Given the description of an element on the screen output the (x, y) to click on. 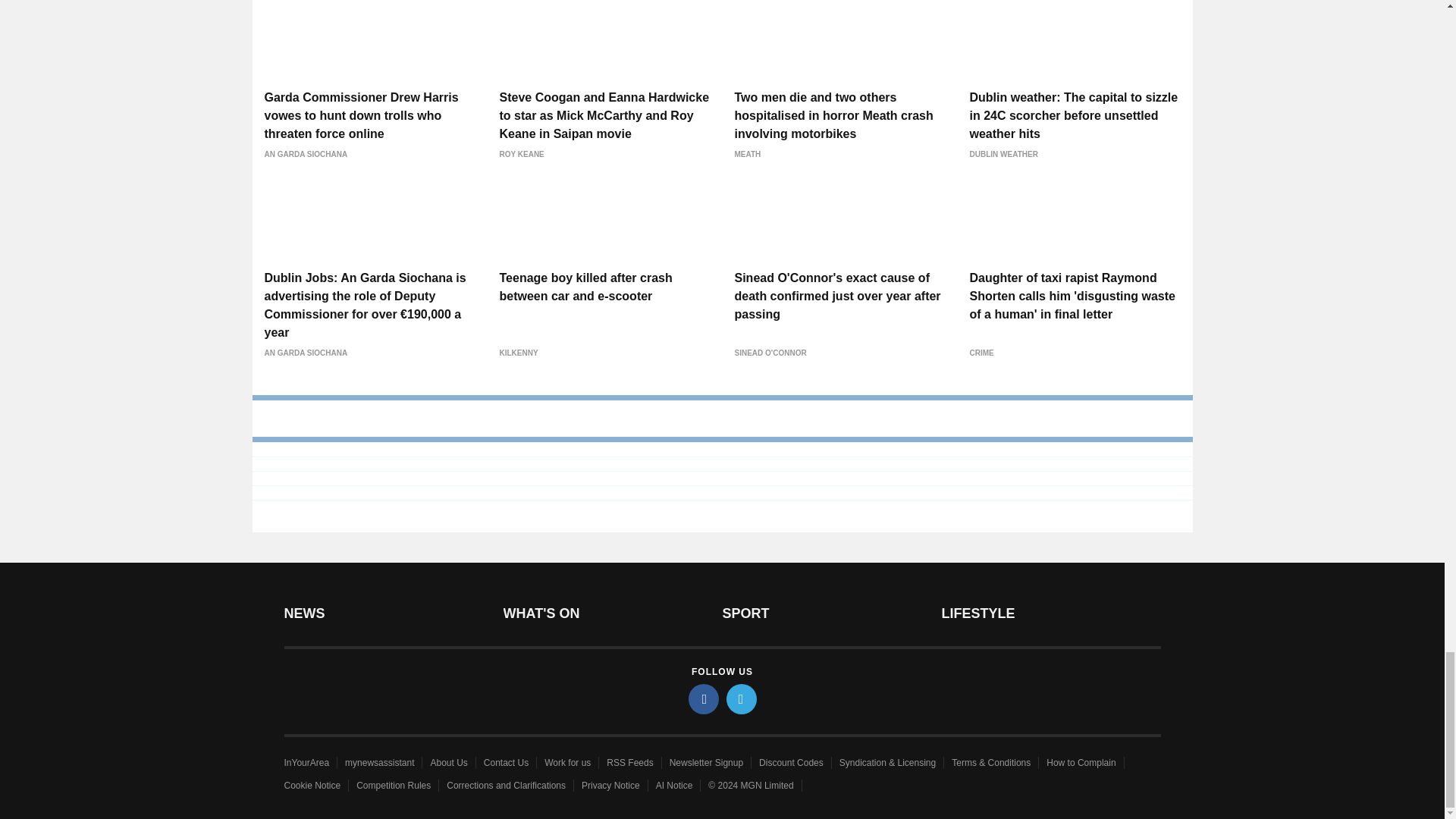
twitter (741, 698)
facebook (703, 698)
